Given the description of an element on the screen output the (x, y) to click on. 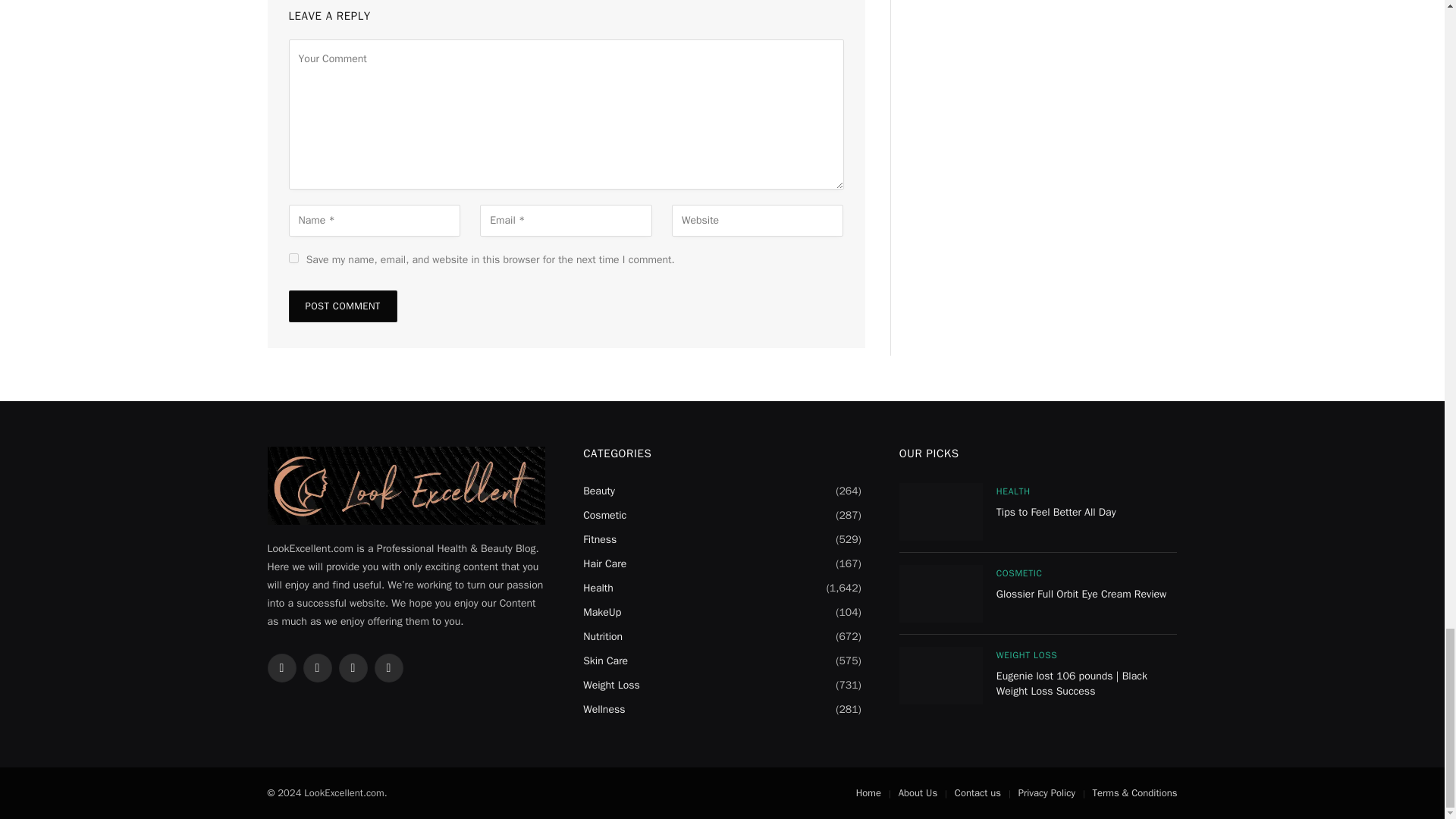
yes (293, 257)
Post Comment (342, 306)
